Given the description of an element on the screen output the (x, y) to click on. 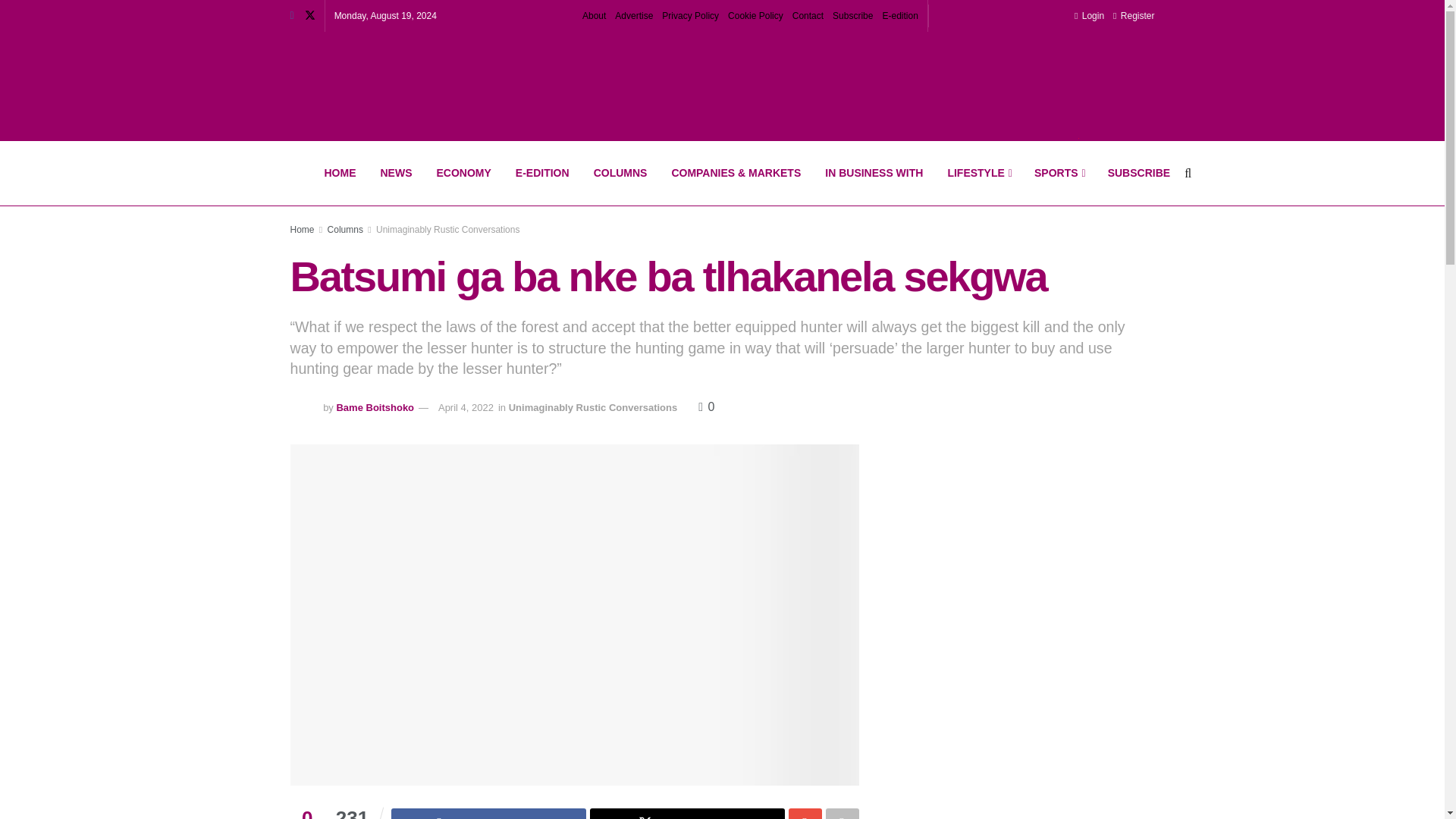
Privacy Policy (690, 15)
ECONOMY (464, 172)
IN BUSINESS WITH (873, 172)
Cookie Policy (755, 15)
E-edition (899, 15)
Login (1088, 15)
LIFESTYLE (978, 172)
E-EDITION (541, 172)
Subscribe (852, 15)
Contact (808, 15)
